Given the description of an element on the screen output the (x, y) to click on. 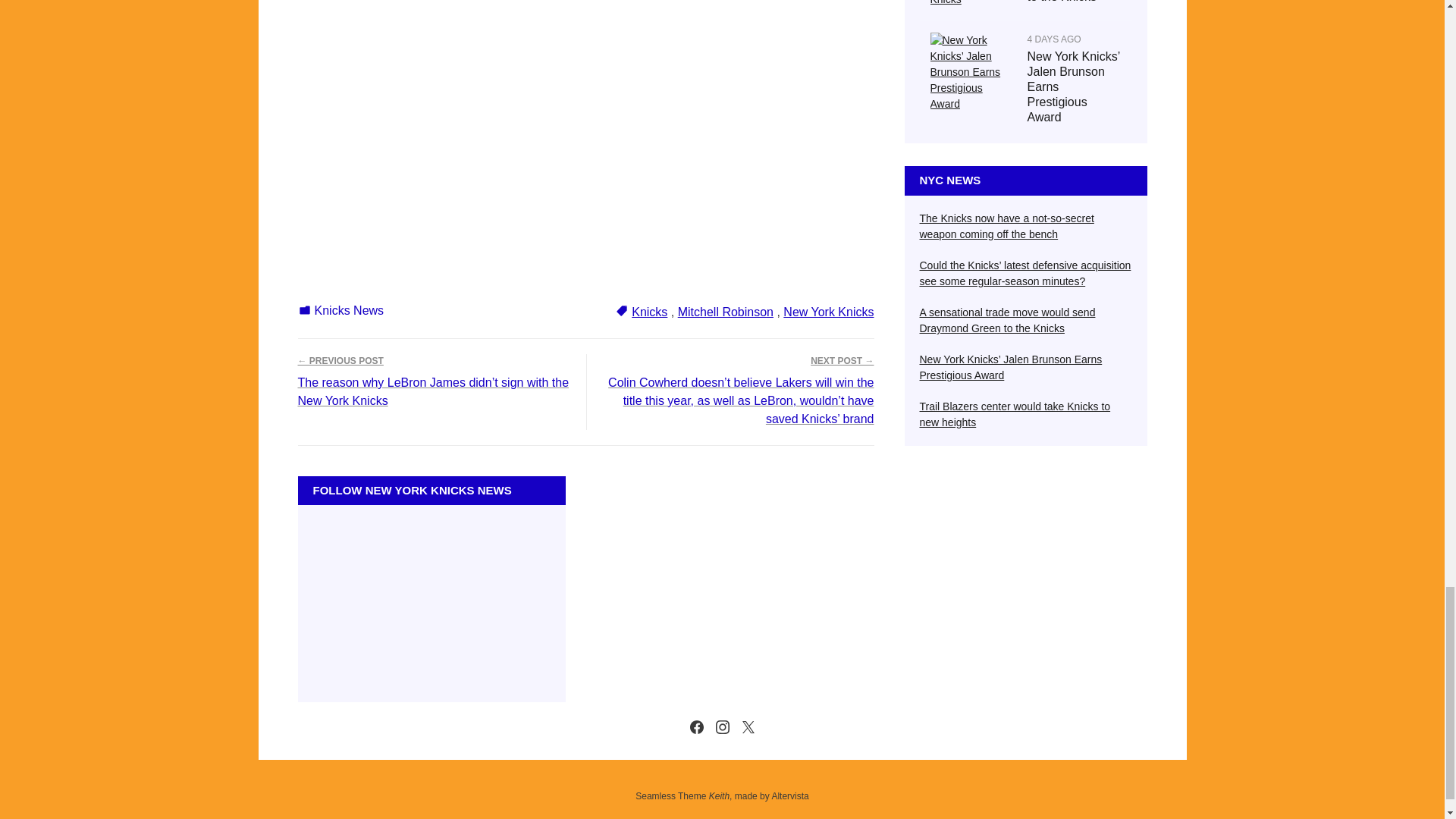
New York Knicks (828, 311)
Twitter (748, 727)
Knicks (648, 311)
Instagram (722, 727)
Facebook (696, 727)
Mitchell Robinson (725, 311)
Knicks News (349, 309)
